Given the description of an element on the screen output the (x, y) to click on. 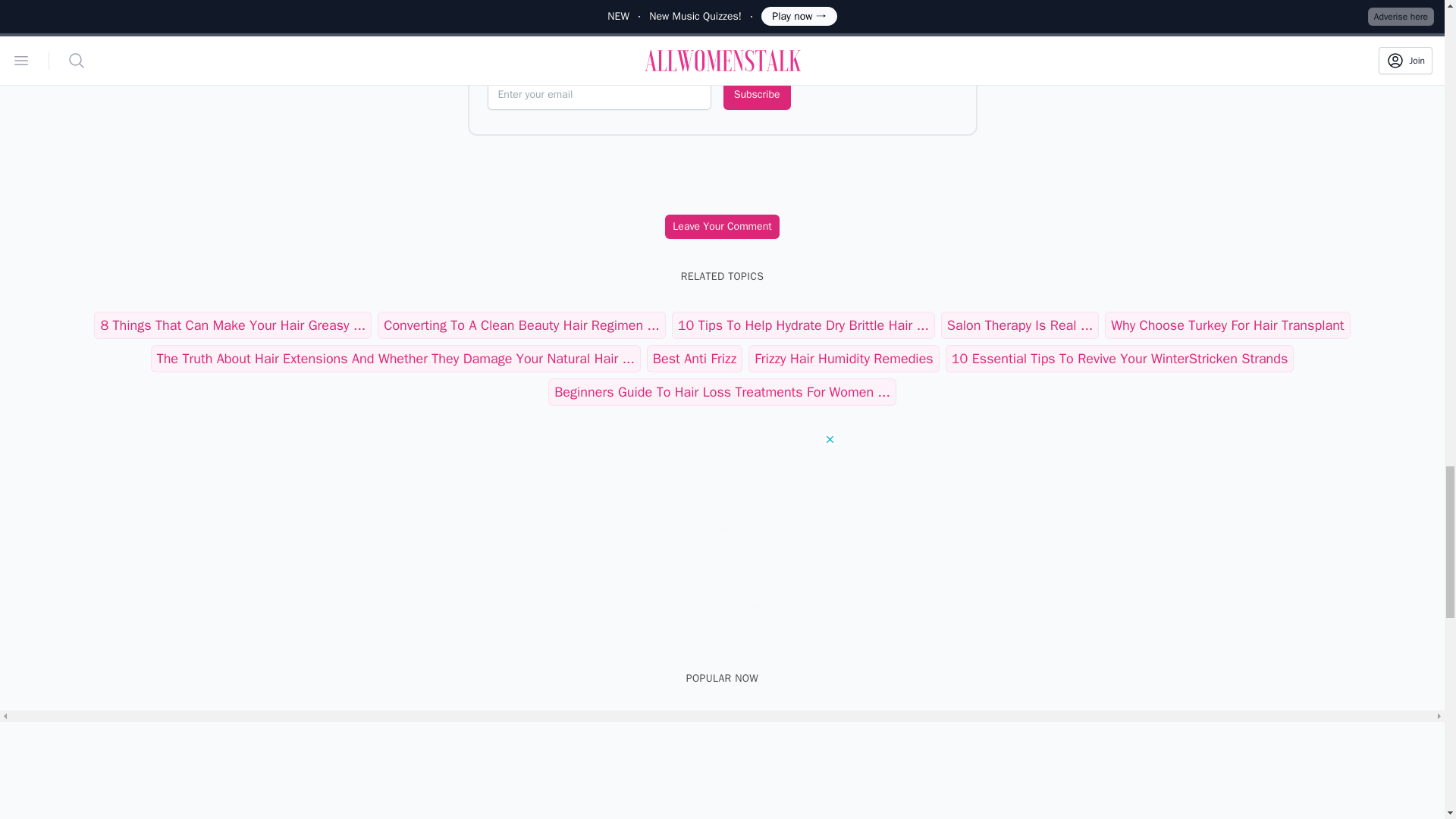
3rd party ad content (721, 527)
